Given the description of an element on the screen output the (x, y) to click on. 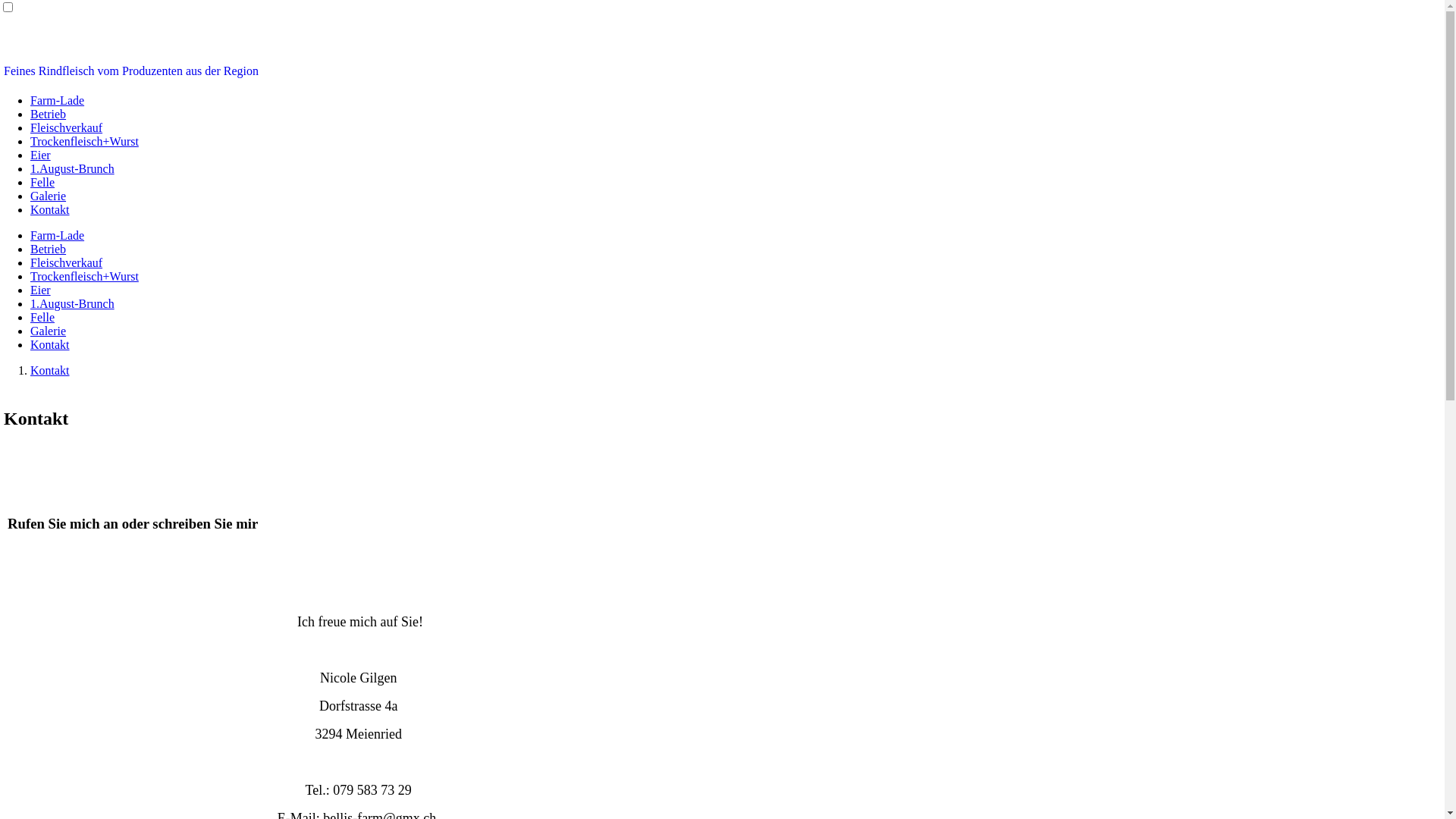
1.August-Brunch Element type: text (72, 303)
1.August-Brunch Element type: text (72, 168)
Betrieb Element type: text (47, 113)
Farm-Lade Element type: text (57, 235)
Eier Element type: text (40, 289)
Felle Element type: text (42, 316)
Eier Element type: text (40, 154)
Feines Rindfleisch vom Produzenten aus der Region Element type: text (130, 70)
Fleischverkauf Element type: text (66, 262)
Kontakt Element type: text (49, 344)
Galerie Element type: text (47, 330)
Galerie Element type: text (47, 195)
Trockenfleisch+Wurst Element type: text (84, 275)
Betrieb Element type: text (47, 248)
Kontakt Element type: text (49, 209)
Felle Element type: text (42, 181)
Farm-Lade Element type: text (57, 100)
Fleischverkauf Element type: text (66, 127)
Kontakt Element type: text (49, 370)
Trockenfleisch+Wurst Element type: text (84, 140)
